Given the description of an element on the screen output the (x, y) to click on. 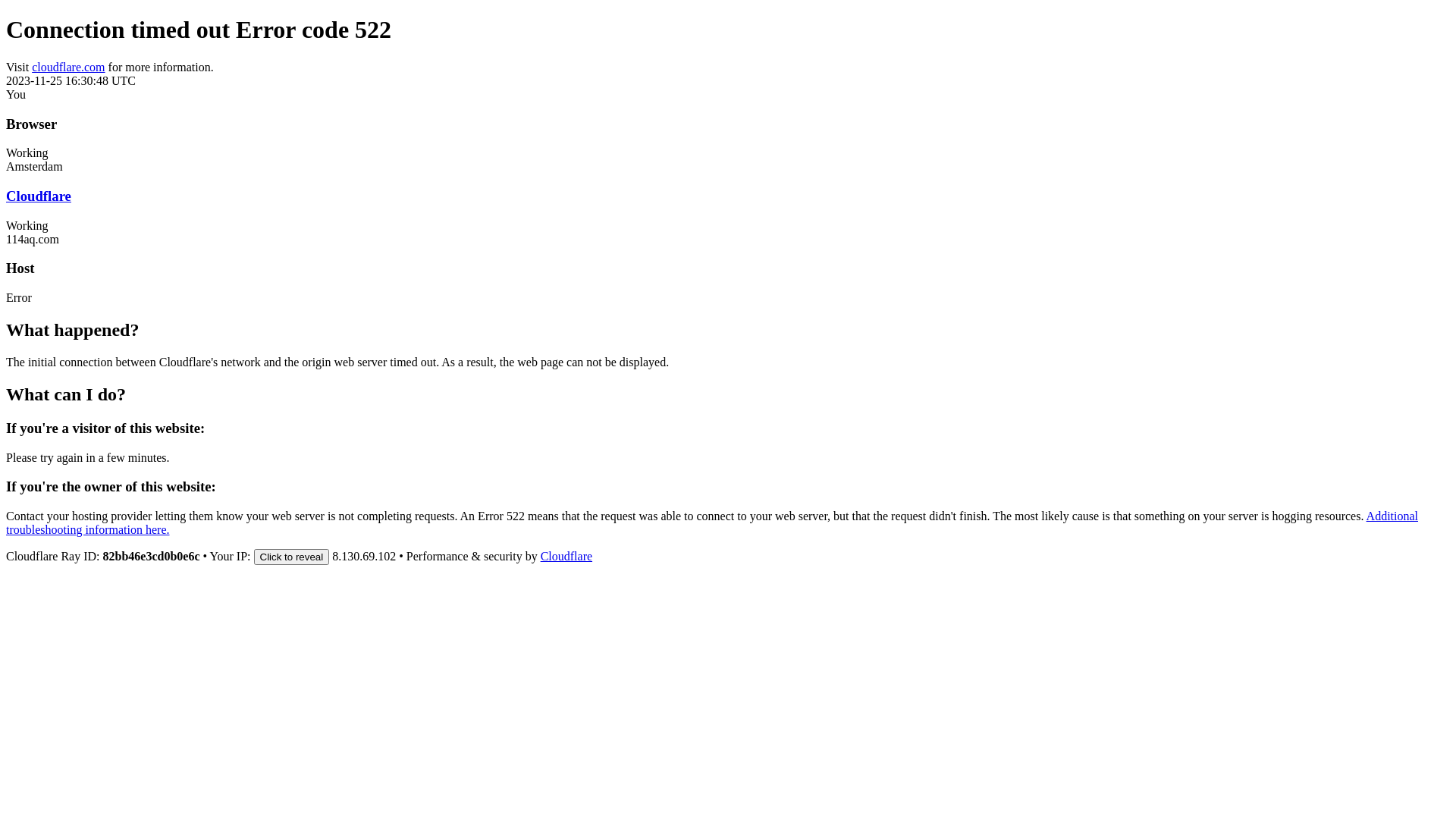
Additional troubleshooting information here. Element type: text (712, 522)
Cloudflare Element type: text (38, 195)
Click to reveal Element type: text (291, 556)
Cloudflare Element type: text (566, 555)
cloudflare.com Element type: text (67, 66)
